Given the description of an element on the screen output the (x, y) to click on. 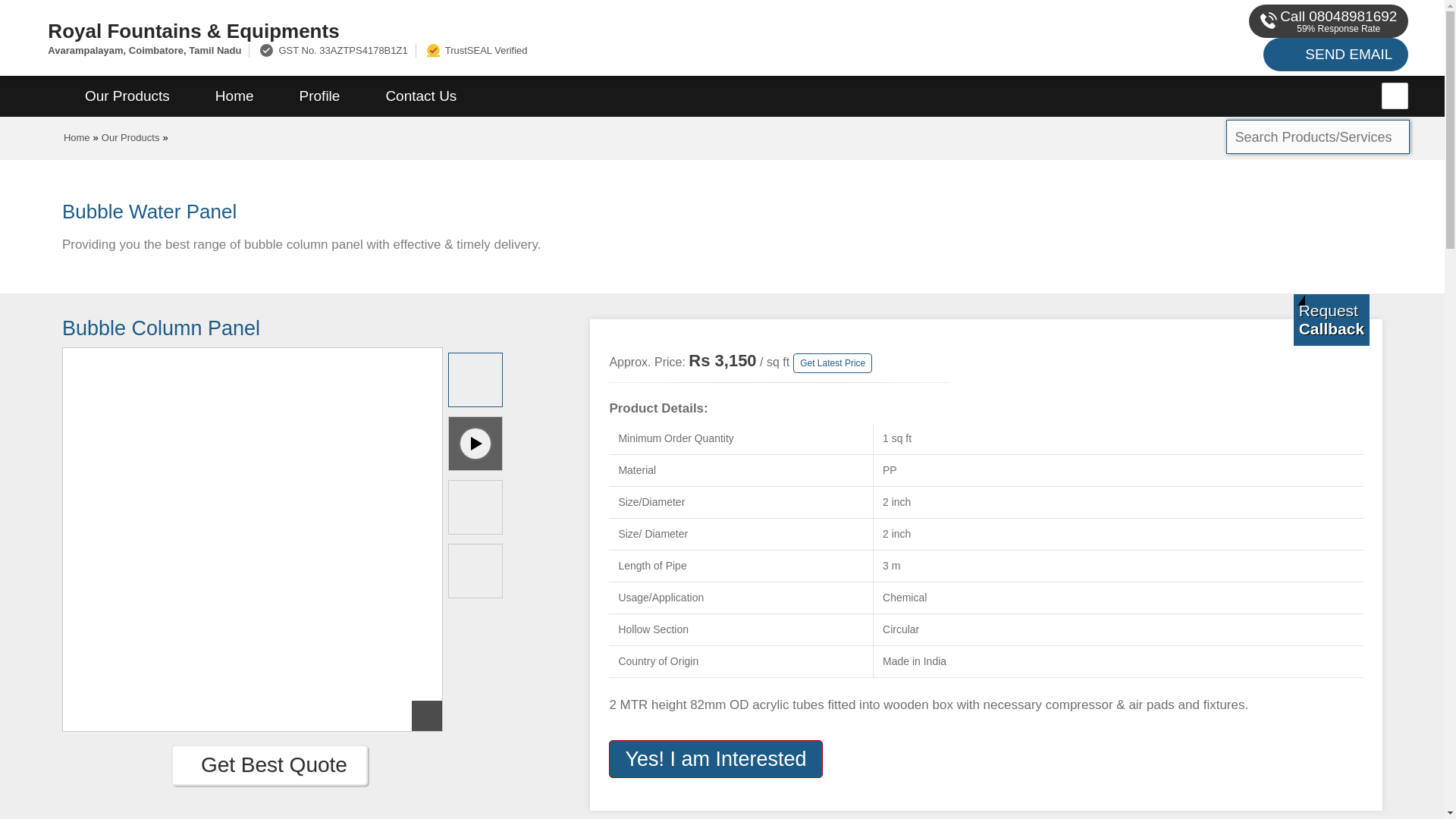
Contact Us (420, 96)
Our Products (130, 137)
Our Products (127, 96)
Home (77, 137)
Home (234, 96)
Get a Call from us (1332, 319)
Profile (319, 96)
